Given the description of an element on the screen output the (x, y) to click on. 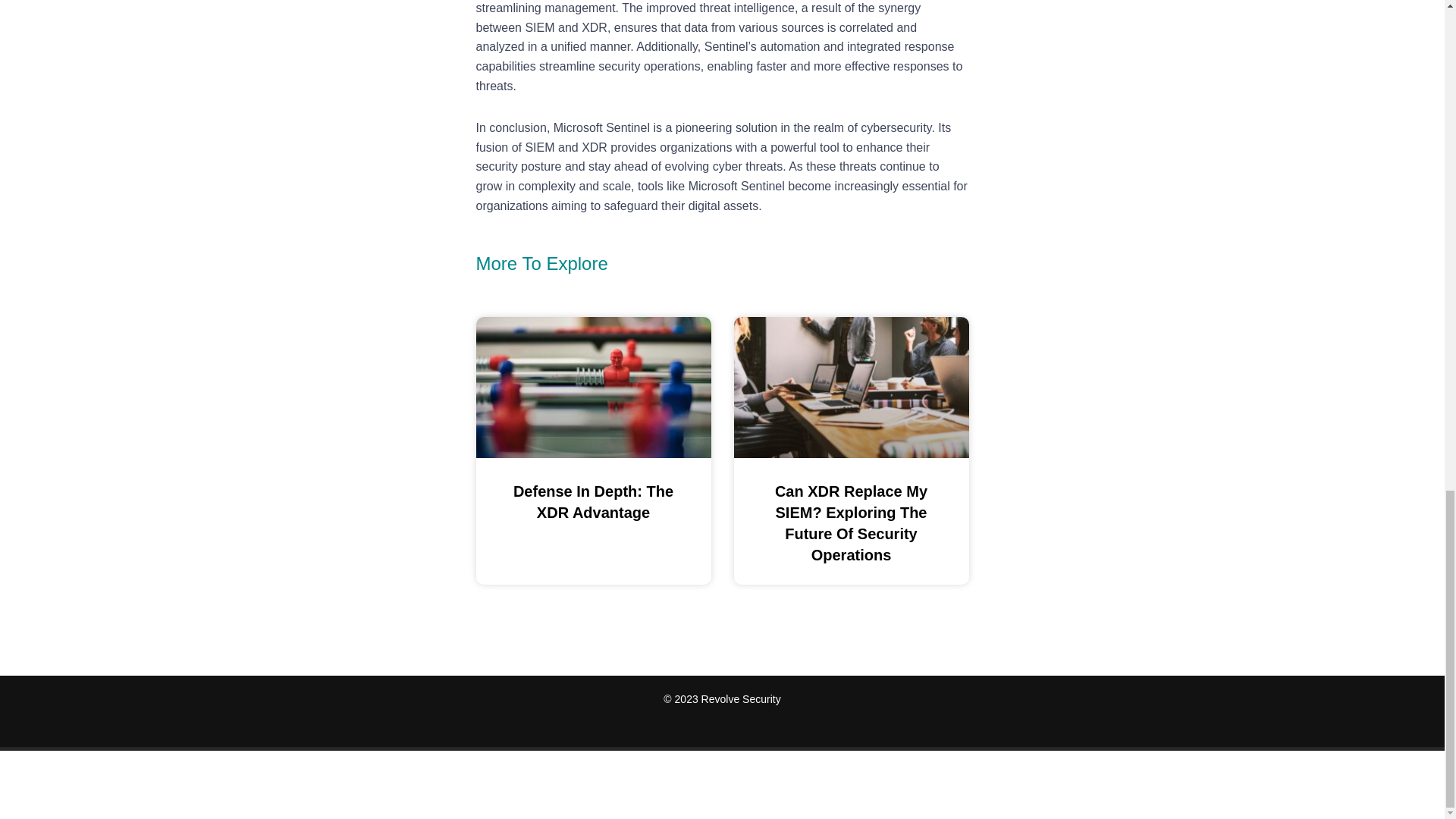
Defense In Depth: The XDR Advantage (592, 501)
